Given the description of an element on the screen output the (x, y) to click on. 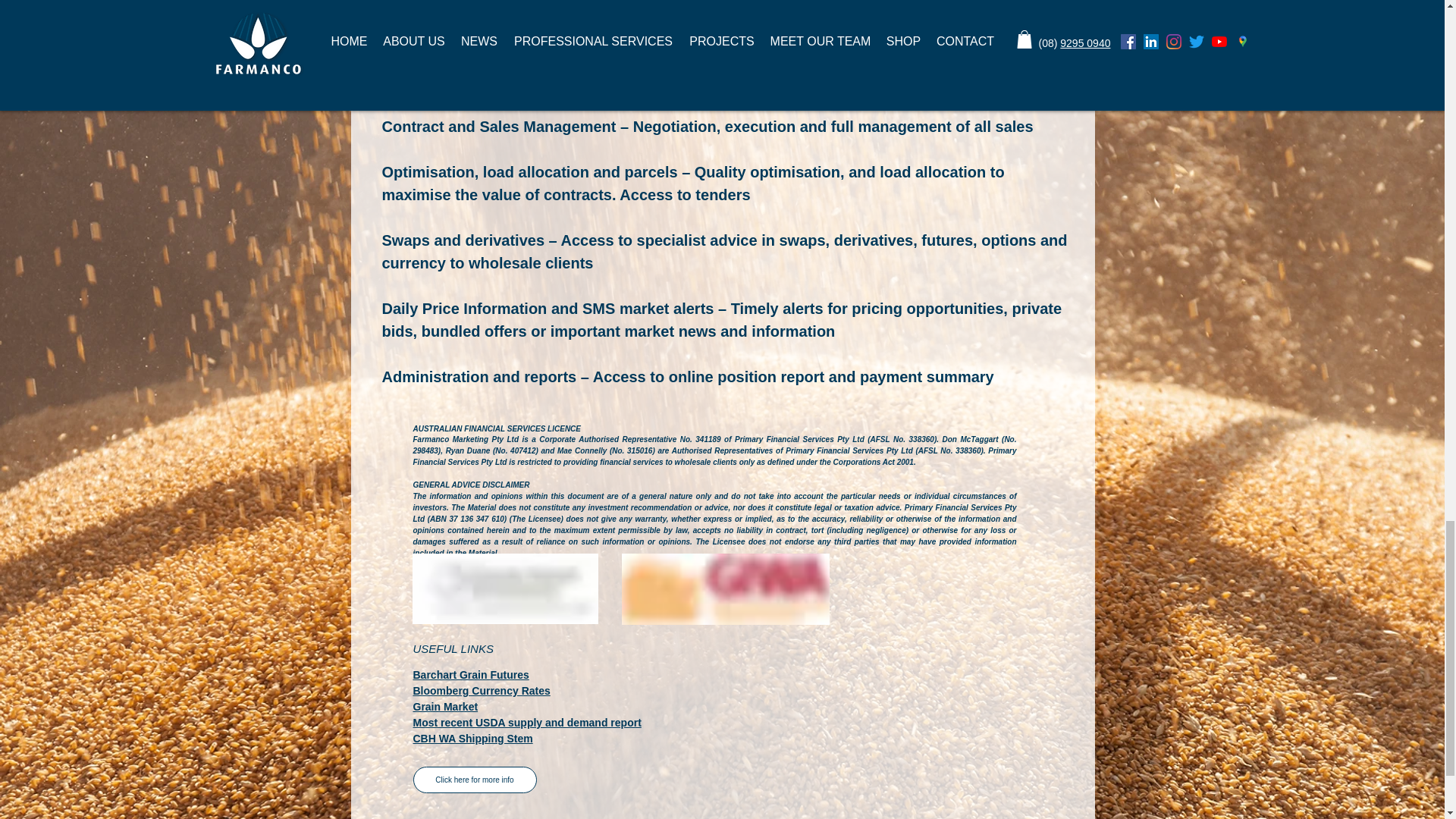
CBH WA Shipping Stem (472, 738)
Barchart Grain Futures (470, 674)
GTA logo 2021.jpg (505, 588)
Most recent USDA supply and demand report (526, 722)
Click here for more info (473, 779)
Bloomberg Currency Rates (481, 690)
Grain Market (444, 706)
GIWA.png (725, 588)
